Given the description of an element on the screen output the (x, y) to click on. 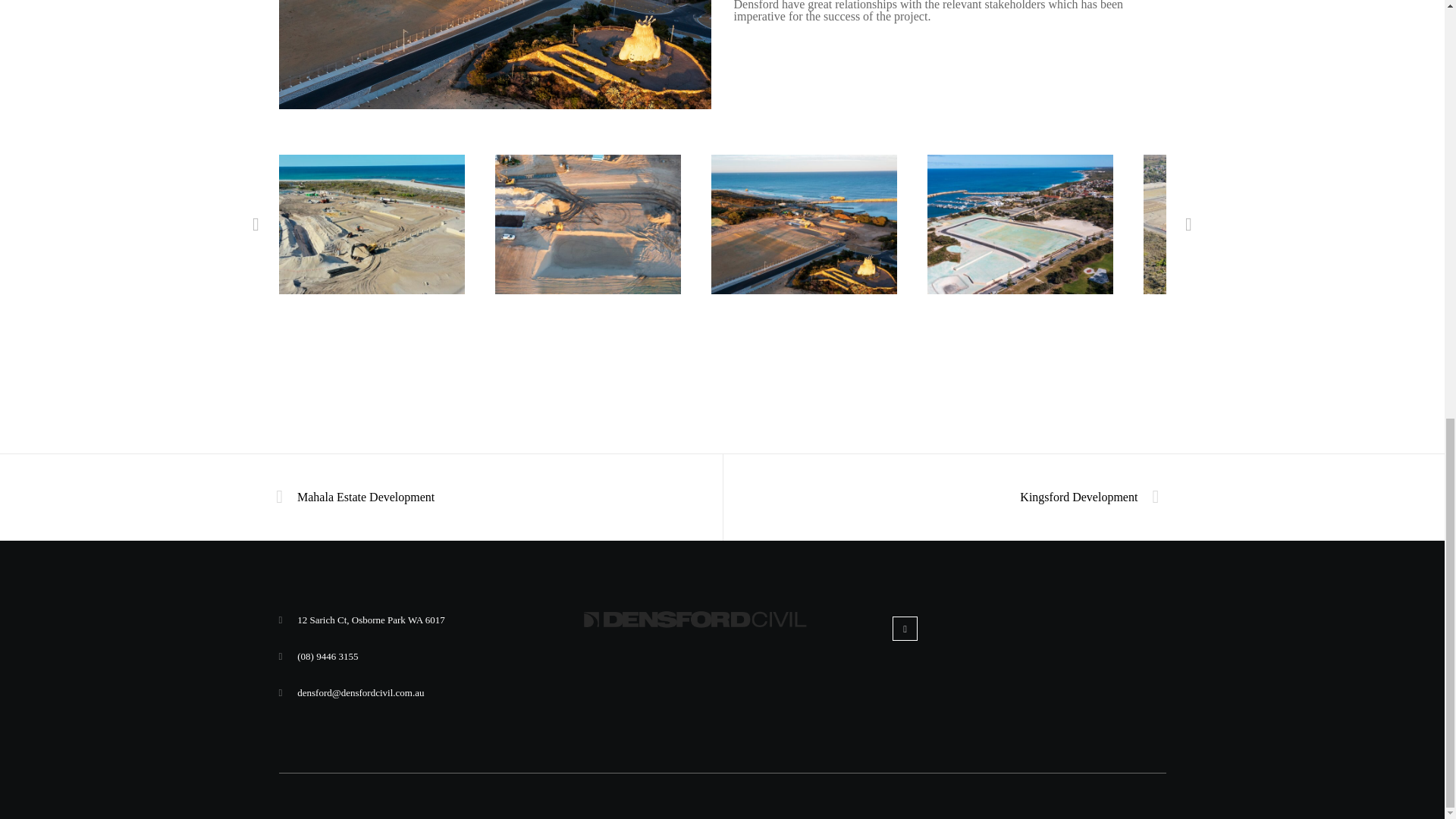
Mahala Estate Development (361, 497)
